Given the description of an element on the screen output the (x, y) to click on. 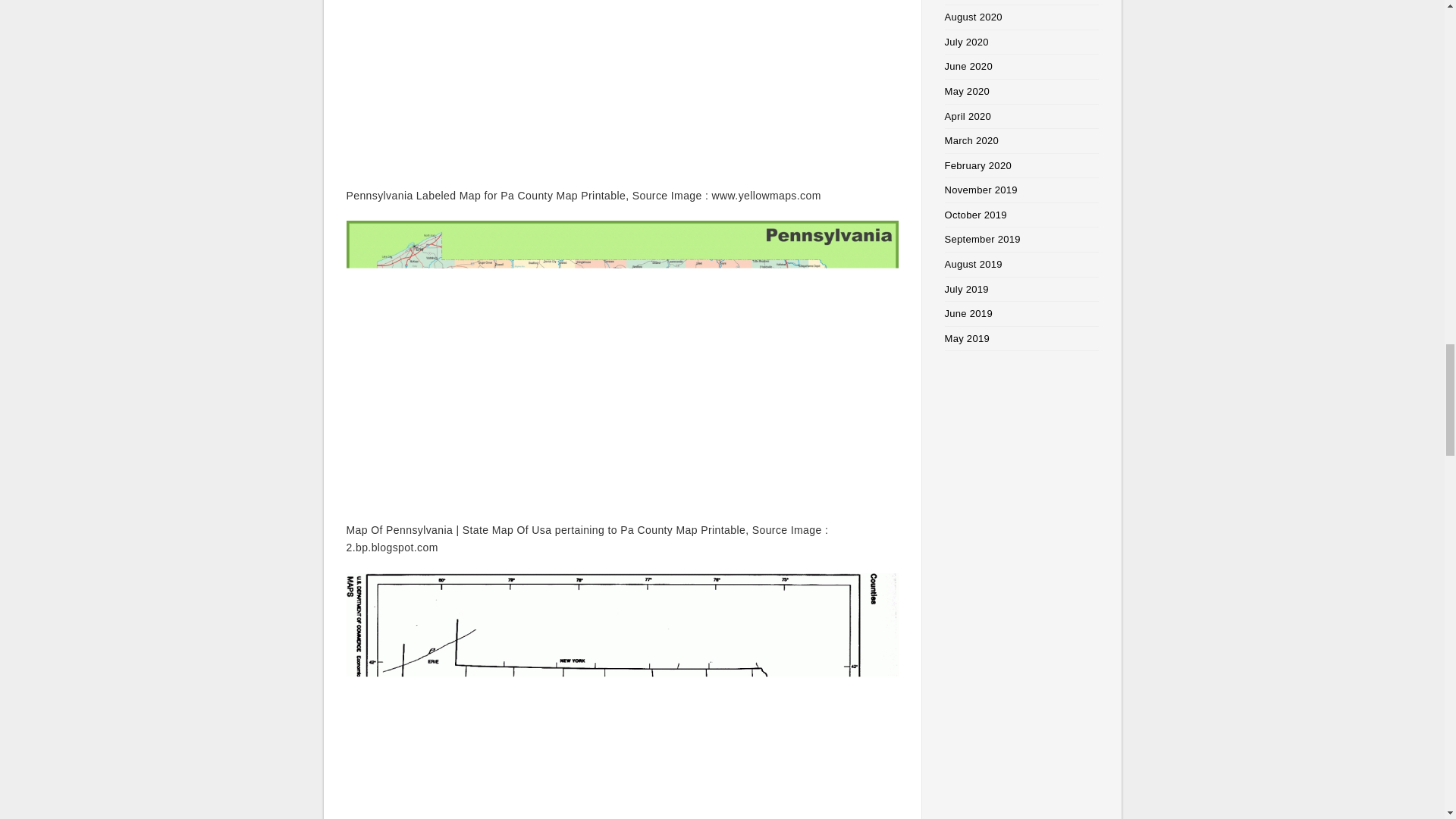
pennsylvania labeled map for pa county map printable (622, 85)
